Given the description of an element on the screen output the (x, y) to click on. 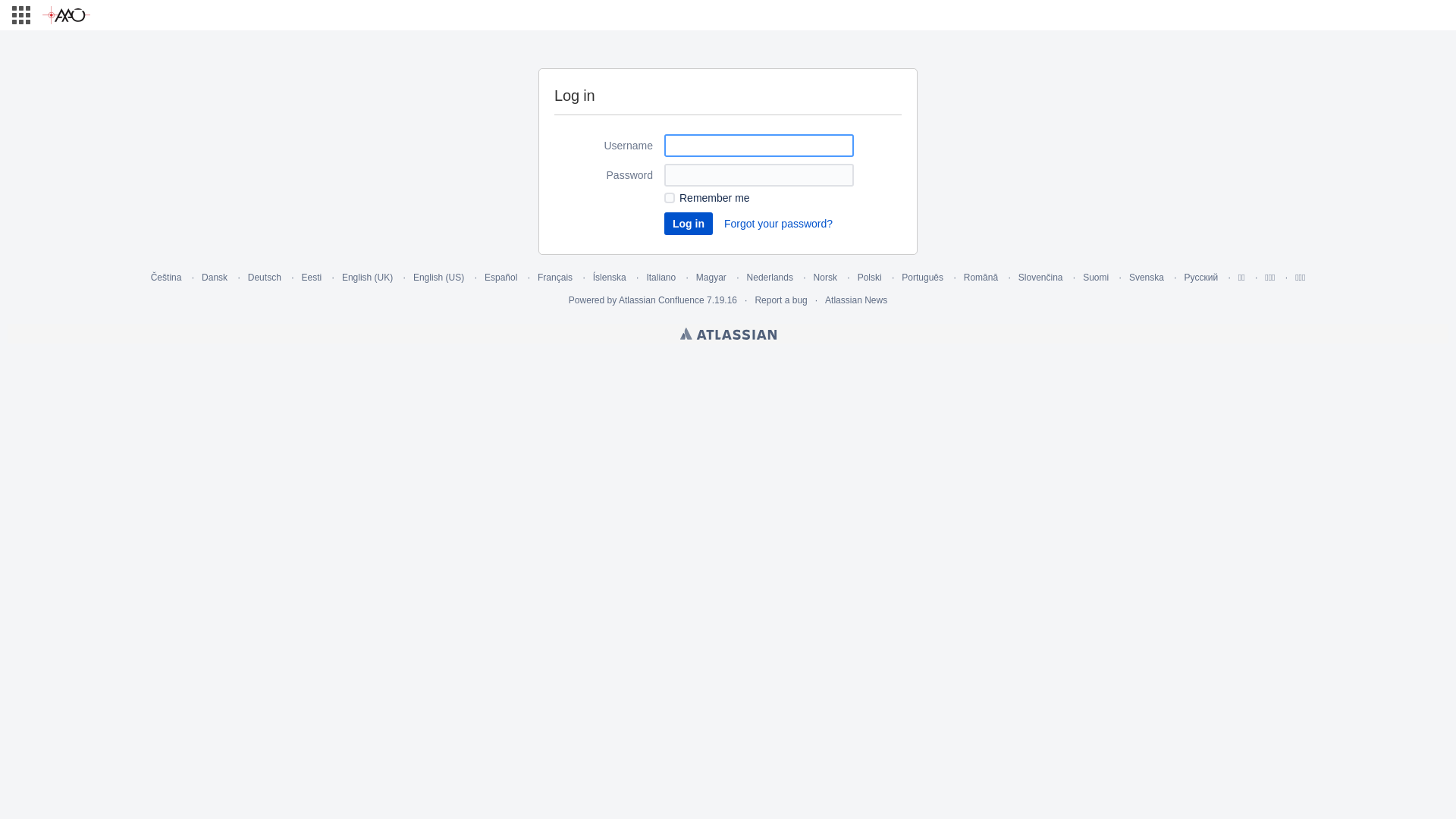
English (UK) Element type: text (367, 277)
Eesti Element type: text (311, 277)
Dansk Element type: text (214, 277)
Suomi Element type: text (1095, 277)
English (US) Element type: text (438, 277)
Magyar Element type: text (711, 277)
Italiano Element type: text (660, 277)
Polski Element type: text (869, 277)
Norsk Element type: text (825, 277)
Svenska Element type: text (1146, 277)
Atlassian Element type: text (727, 333)
Atlassian News Element type: text (856, 299)
Atlassian Confluence Element type: text (661, 299)
Log in Element type: text (688, 223)
Linked Applications Element type: text (20, 15)
Deutsch Element type: text (264, 277)
Report a bug Element type: text (780, 299)
Forgot your password? Element type: text (778, 223)
Nederlands Element type: text (769, 277)
